Given the description of an element on the screen output the (x, y) to click on. 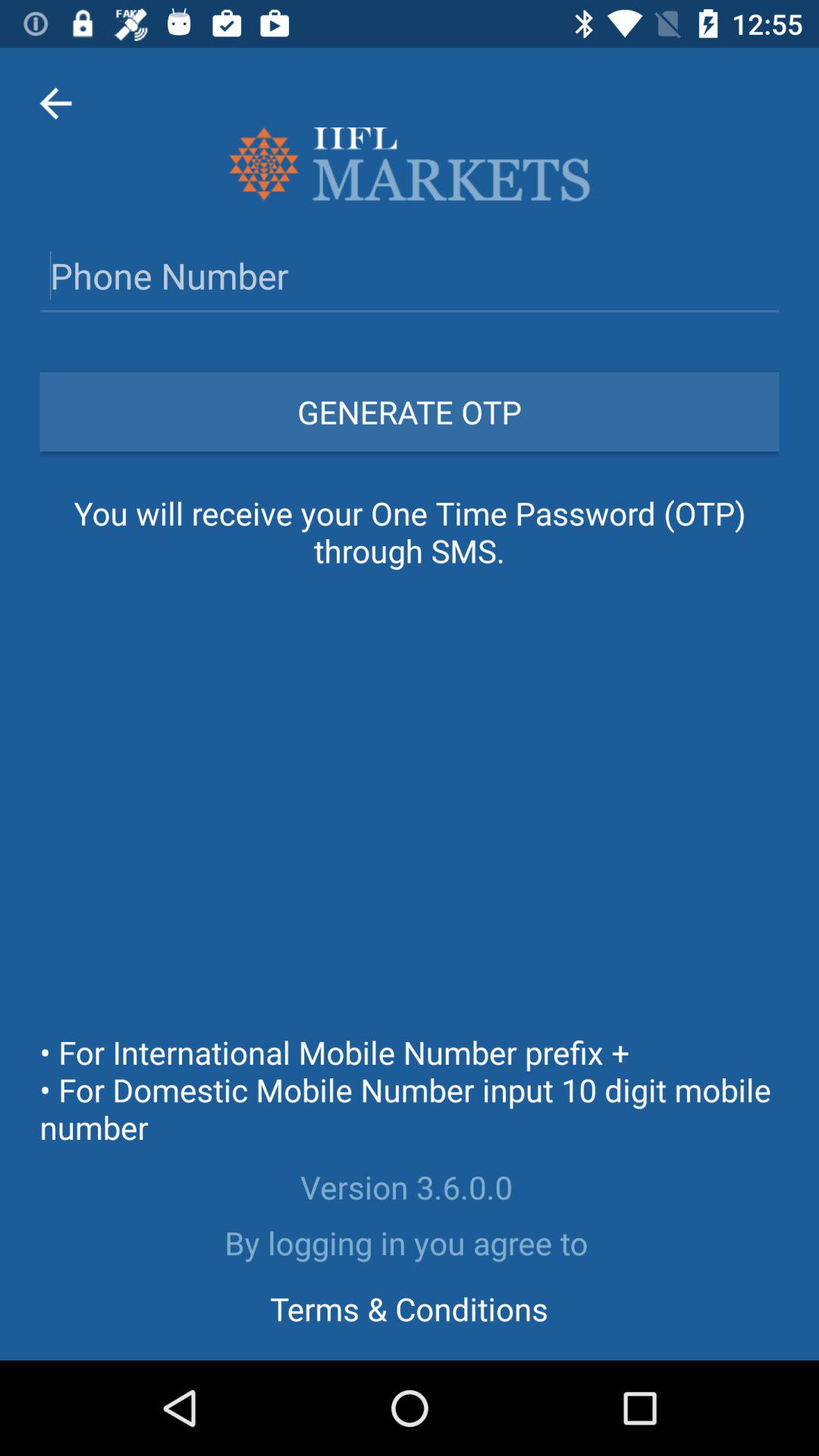
swipe until version 3 6 (409, 1186)
